Given the description of an element on the screen output the (x, y) to click on. 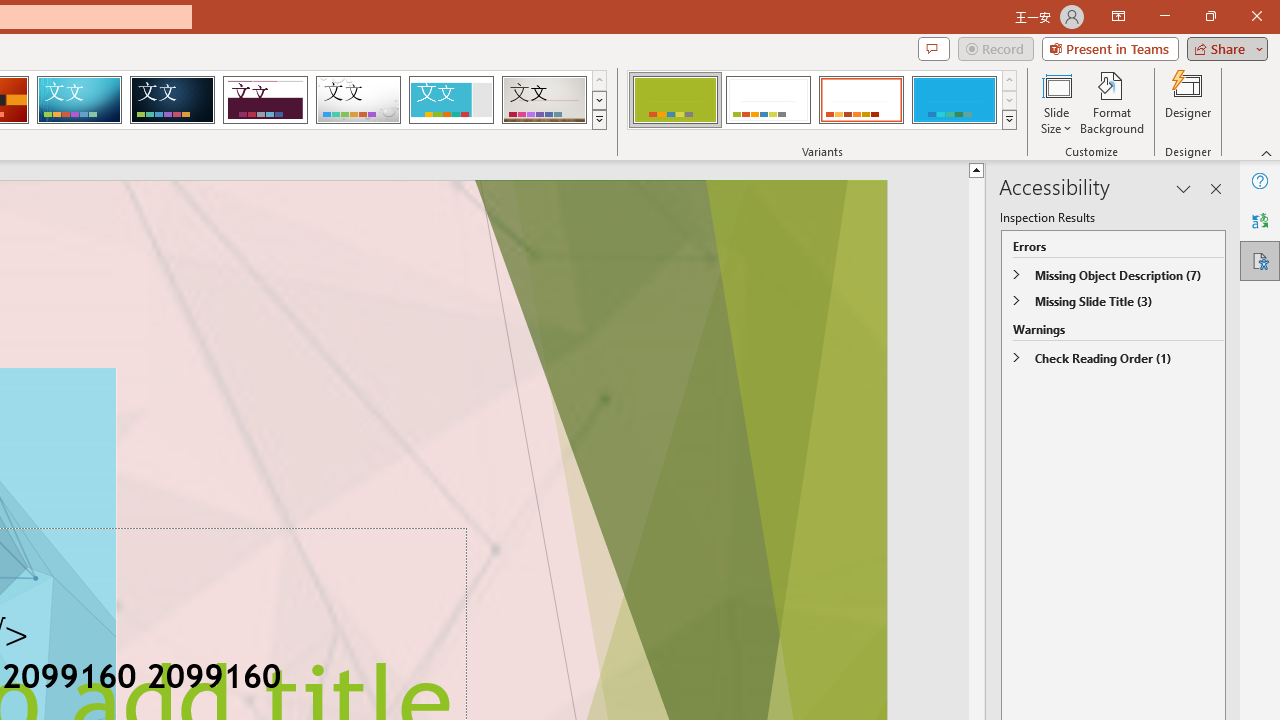
Slide Size (1056, 102)
Frame (450, 100)
